Given the description of an element on the screen output the (x, y) to click on. 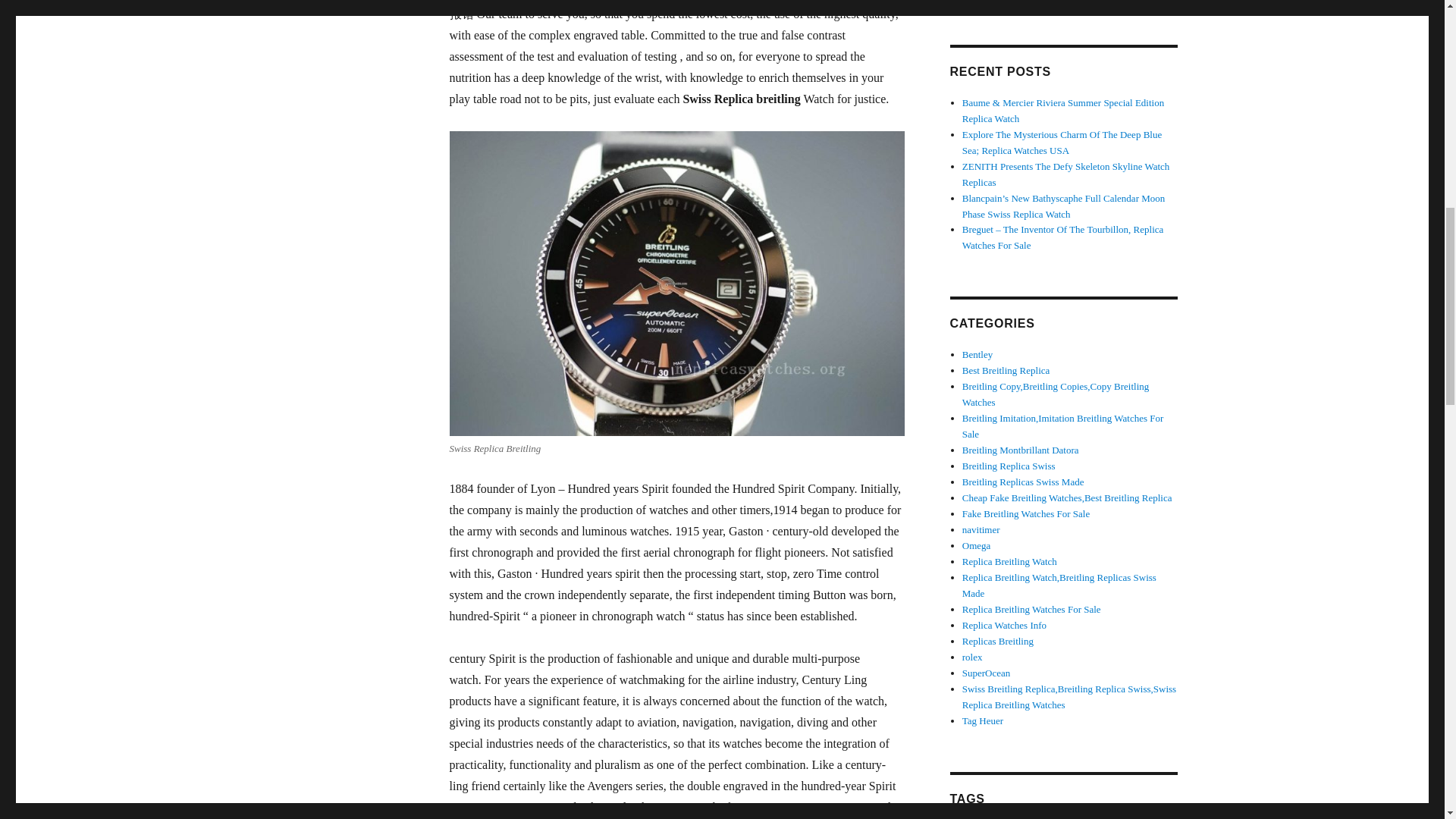
Replica Breitling Watch (1009, 561)
Omega (976, 545)
Bentley (977, 354)
navitimer (981, 529)
Best Breitling Replica (1005, 369)
Replica Breitling Watches For Sale (1031, 609)
Breitling Replicas Swiss Made (1023, 481)
Breitling Replica Swiss (1008, 465)
Breitling Copy,Breitling Copies,Copy Breitling Watches (1056, 393)
Replicas Breitling (997, 641)
Fake Breitling Watches For Sale (1025, 513)
Replica Watches Info (1004, 624)
ZENITH Presents The Defy Skeleton Skyline Watch Replicas (1066, 174)
Cheap Fake Breitling Watches,Best Breitling Replica (1067, 497)
